Given the description of an element on the screen output the (x, y) to click on. 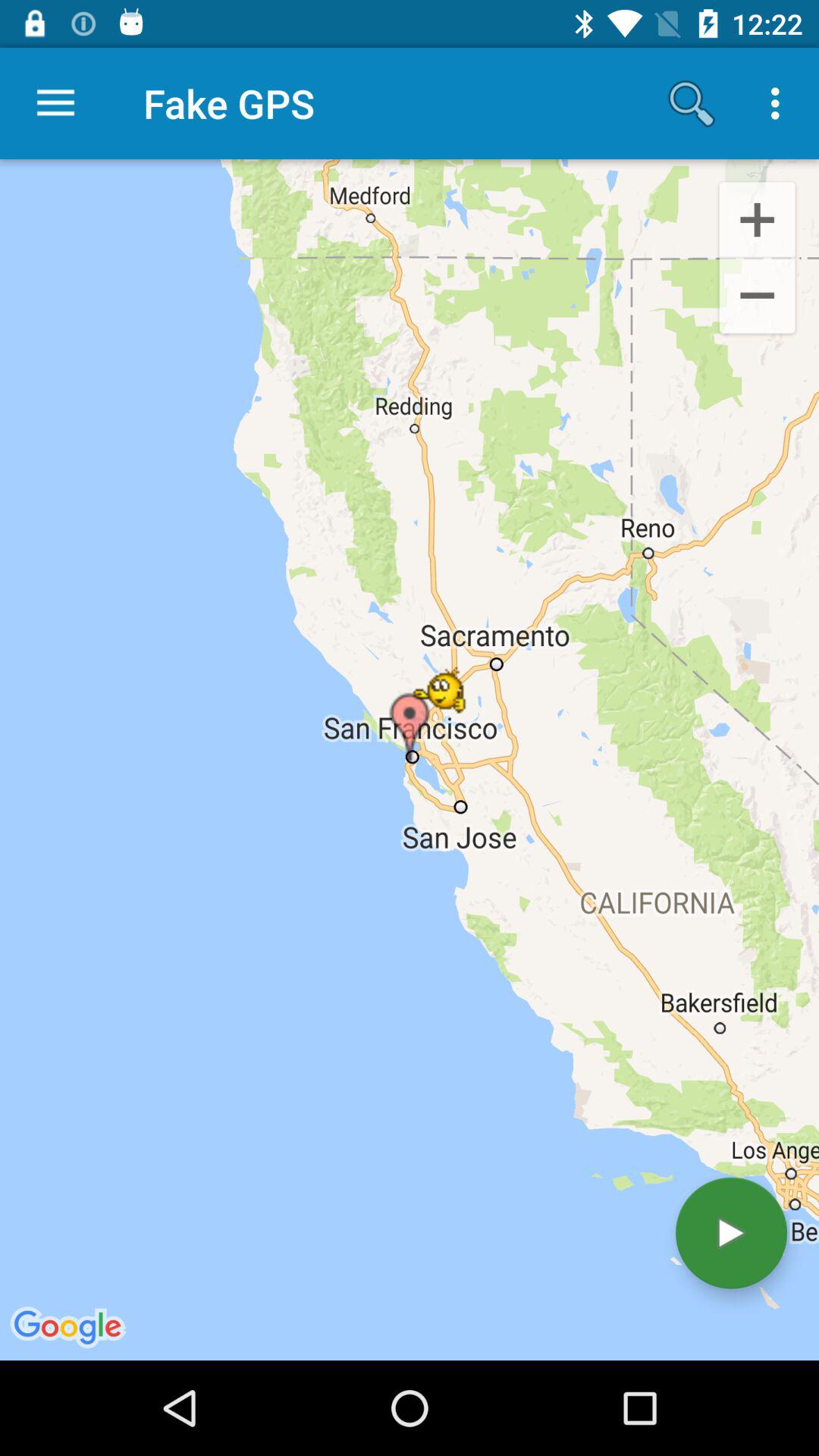
tap item next to the fake gps item (55, 103)
